Given the description of an element on the screen output the (x, y) to click on. 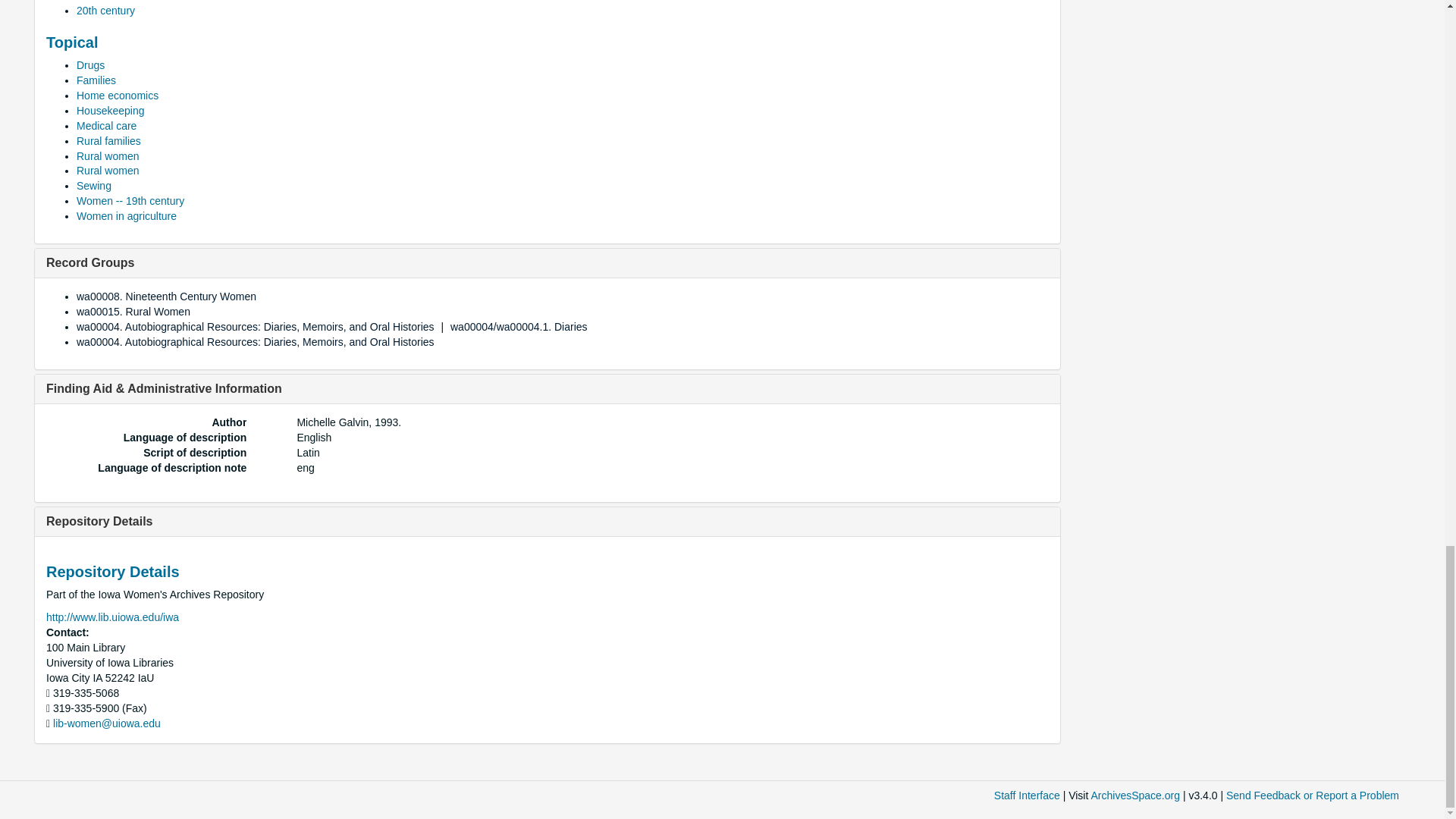
Send email (106, 723)
20th century (106, 10)
